Given the description of an element on the screen output the (x, y) to click on. 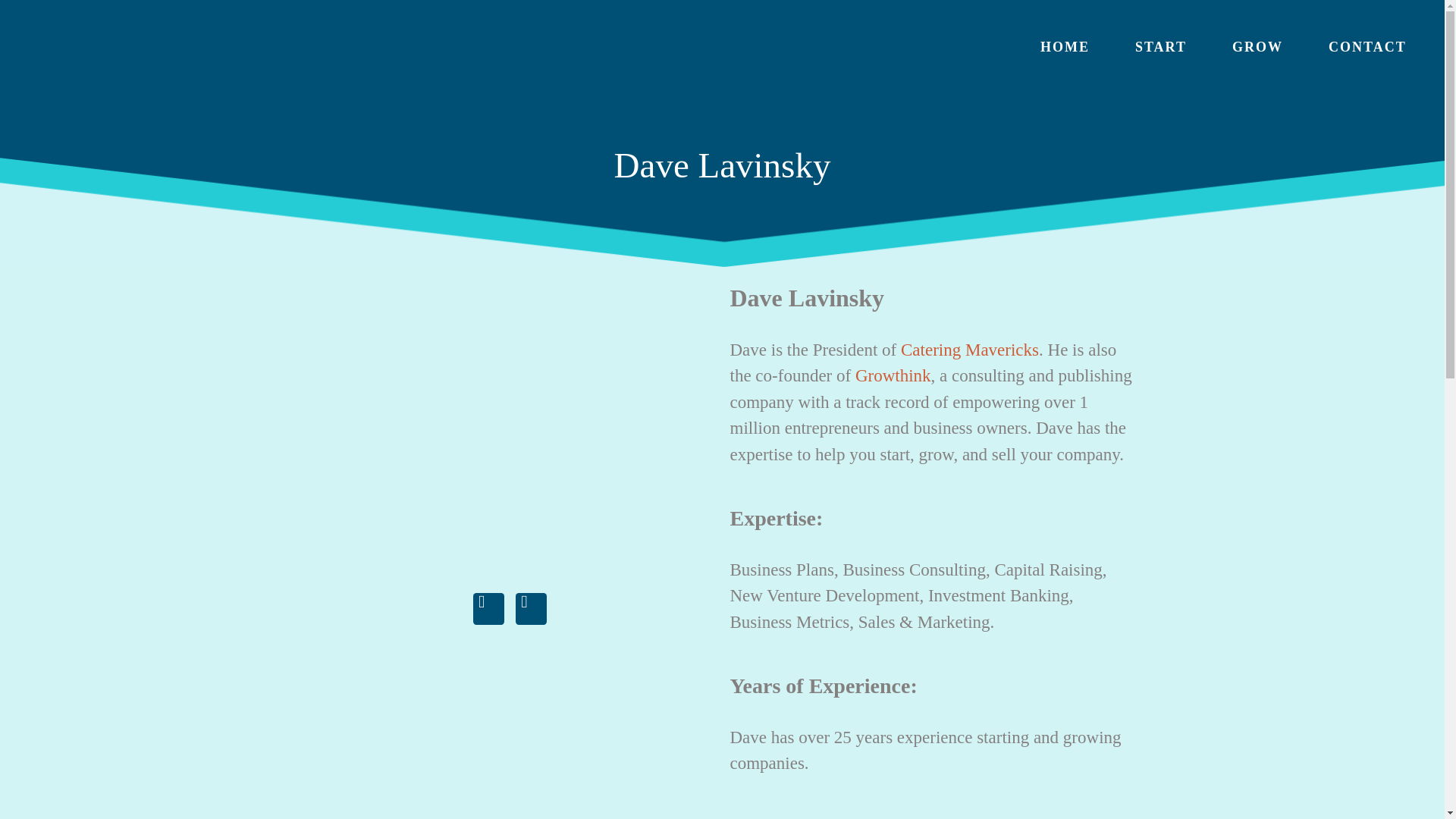
HOME (1064, 47)
Growthink (893, 375)
CONTACT (1366, 47)
Catering Mavericks Logo Design (210, 46)
START (1159, 47)
GROW (1257, 47)
Catering Mavericks (970, 349)
